Given the description of an element on the screen output the (x, y) to click on. 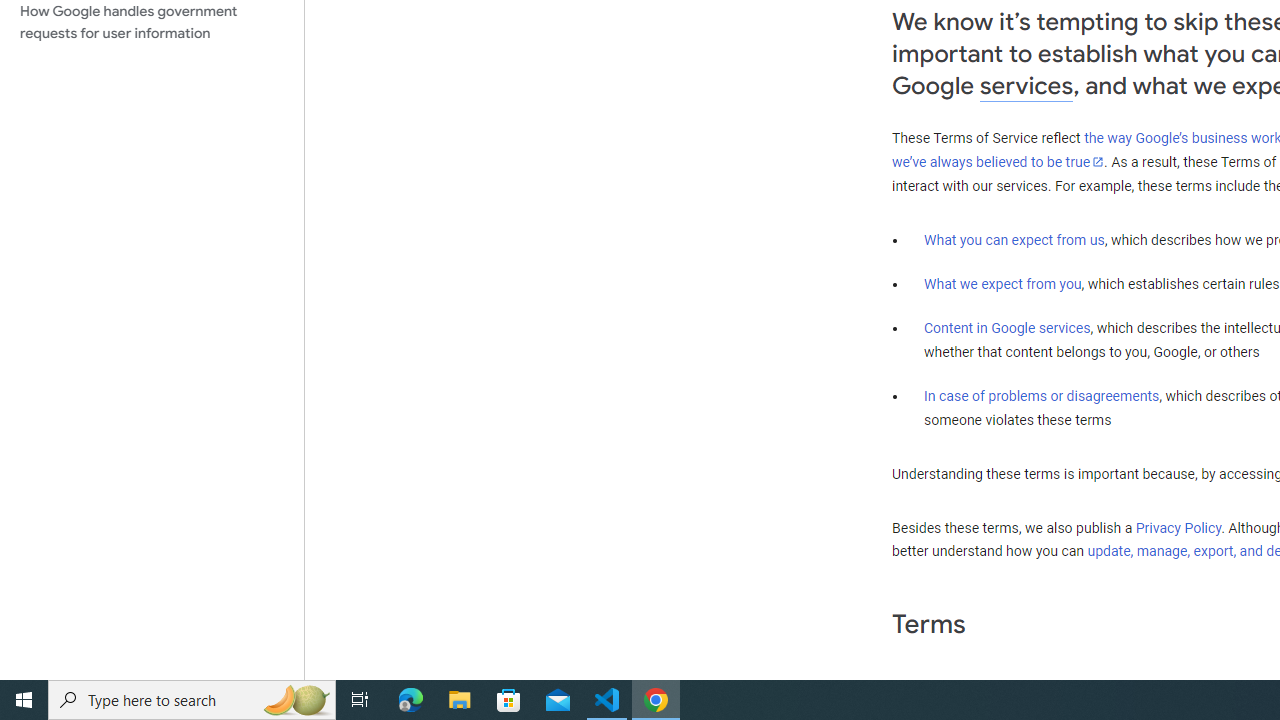
PyCharm 2022.2 (287, 137)
VMware Workstation Pro (57, 270)
